Given the description of an element on the screen output the (x, y) to click on. 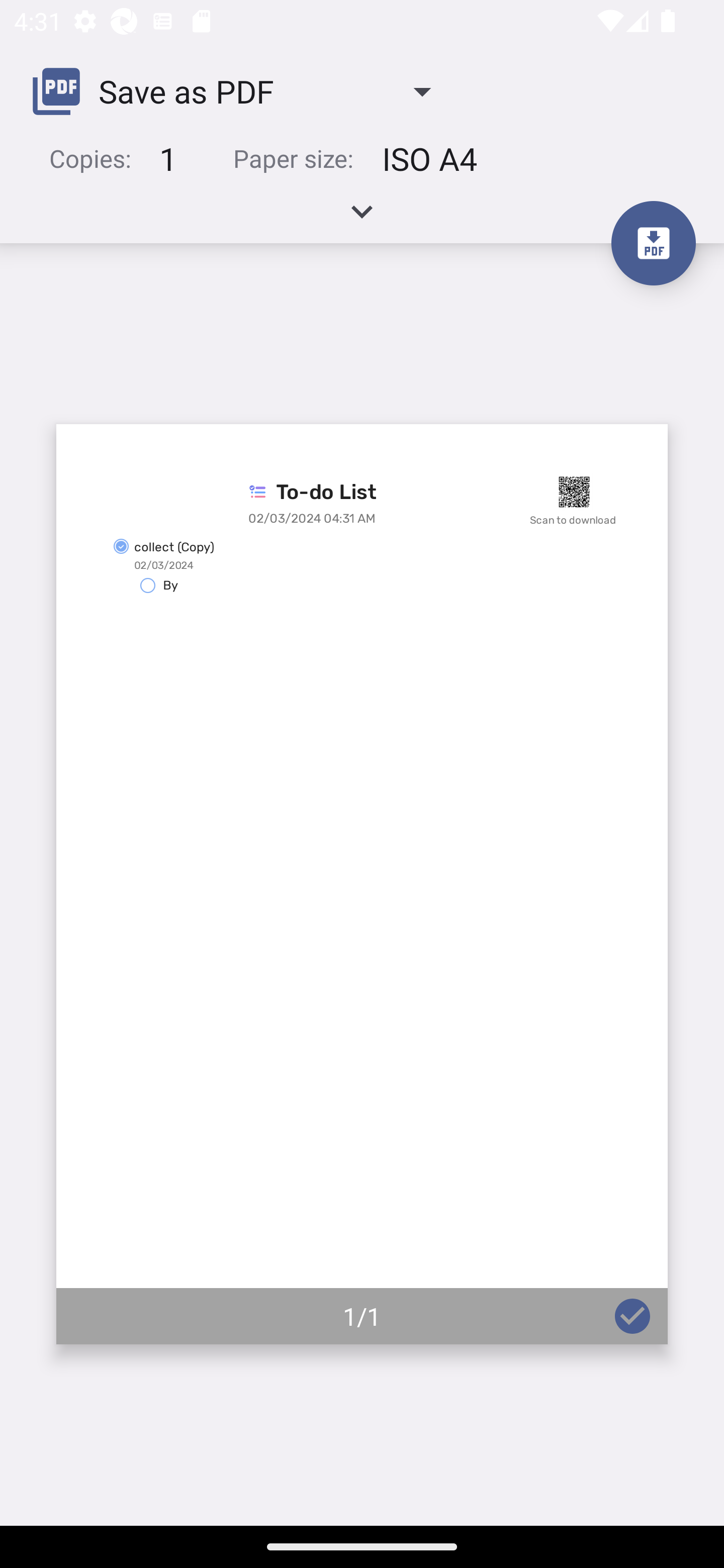
Save as PDF (238, 90)
Expand handle (362, 218)
Save to PDF (653, 242)
Page 1 of 1 1/1 (361, 883)
